Given the description of an element on the screen output the (x, y) to click on. 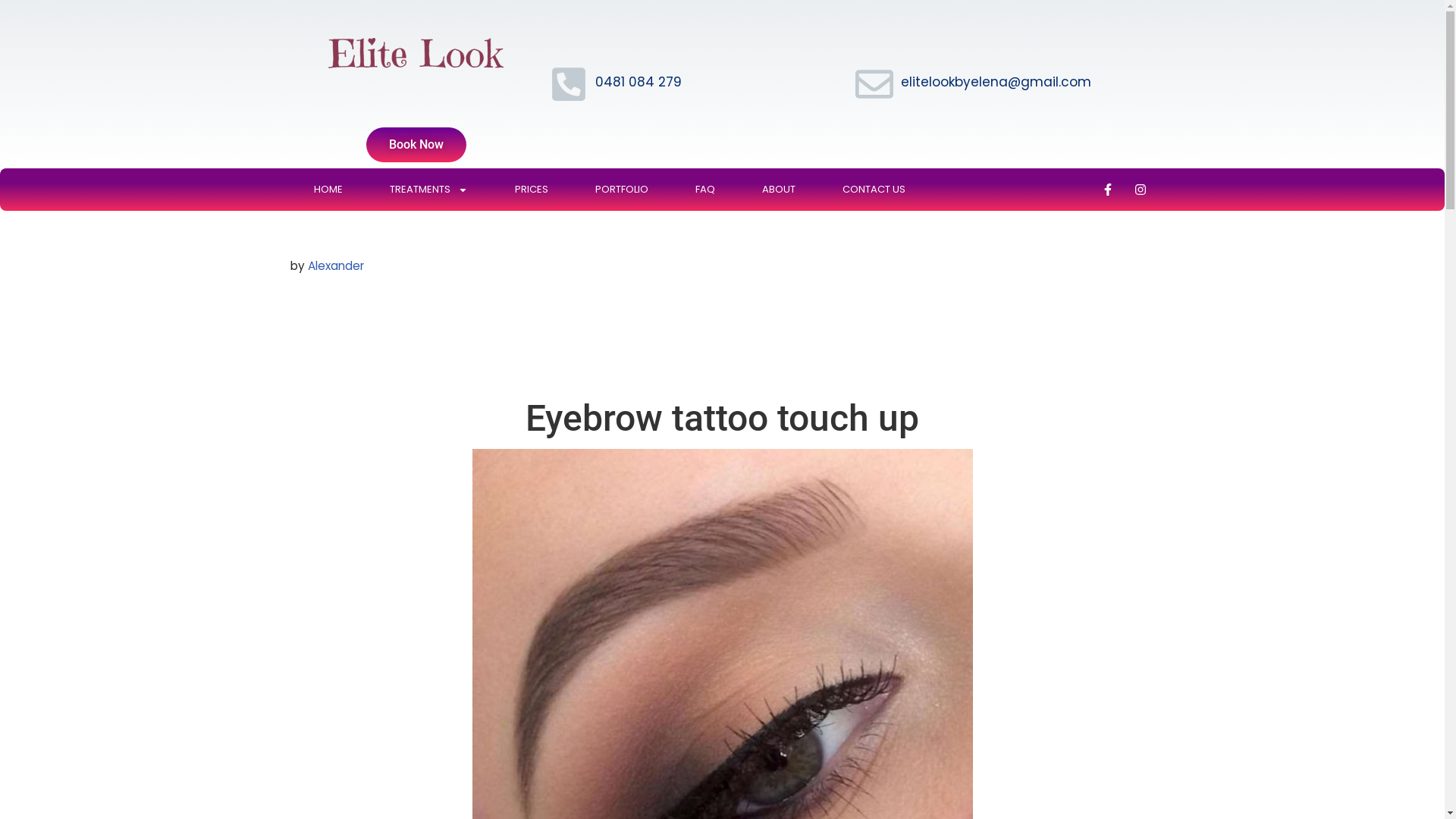
PRICES Element type: text (531, 189)
TREATMENTS Element type: text (427, 189)
HOME Element type: text (327, 189)
Book Now Element type: text (415, 144)
CONTACT US Element type: text (873, 189)
Alexander Element type: text (335, 265)
Skip to content Element type: text (11, 31)
ABOUT Element type: text (778, 189)
PORTFOLIO Element type: text (621, 189)
FAQ Element type: text (704, 189)
